Given the description of an element on the screen output the (x, y) to click on. 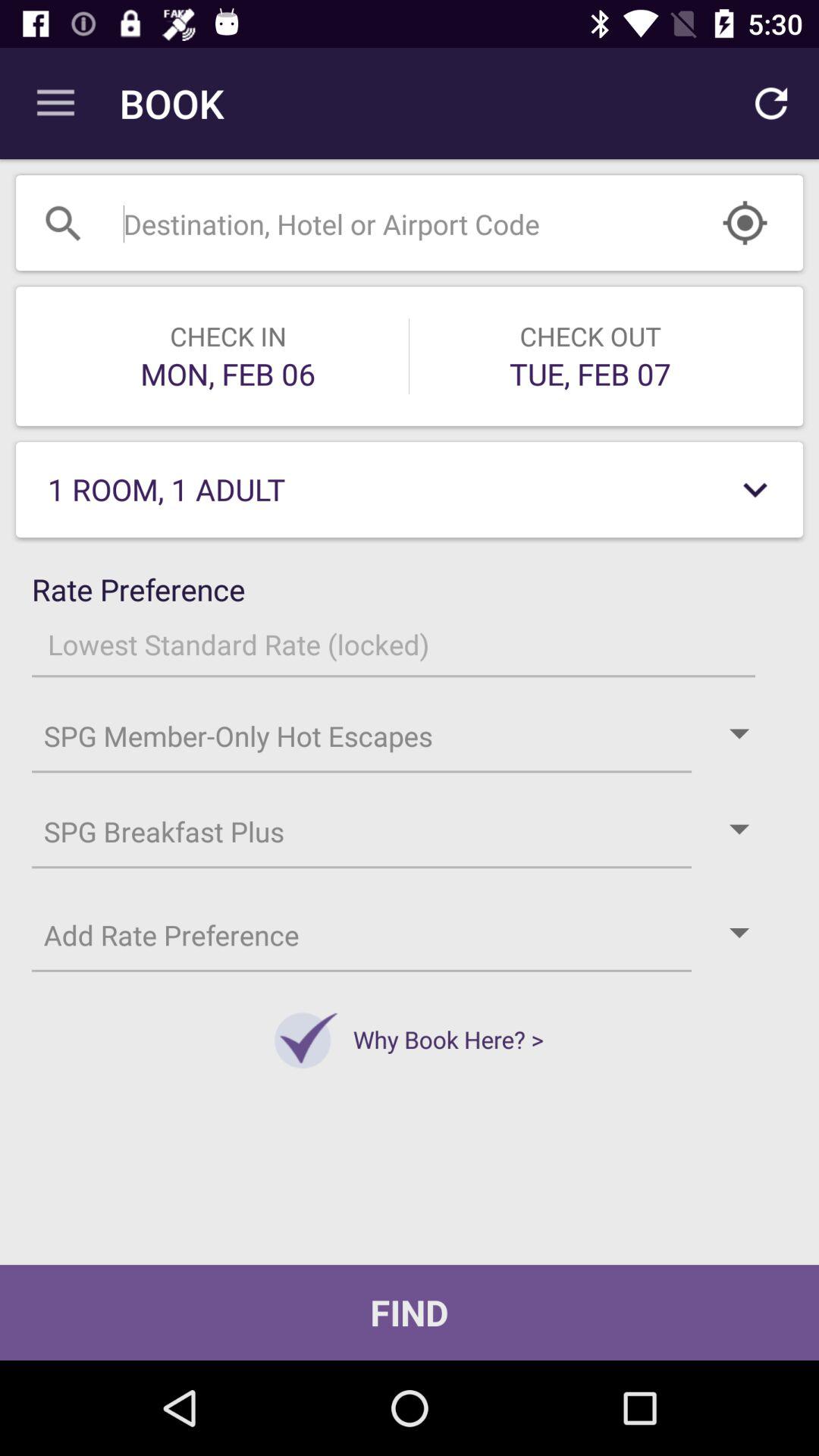
open search bar (370, 222)
